Given the description of an element on the screen output the (x, y) to click on. 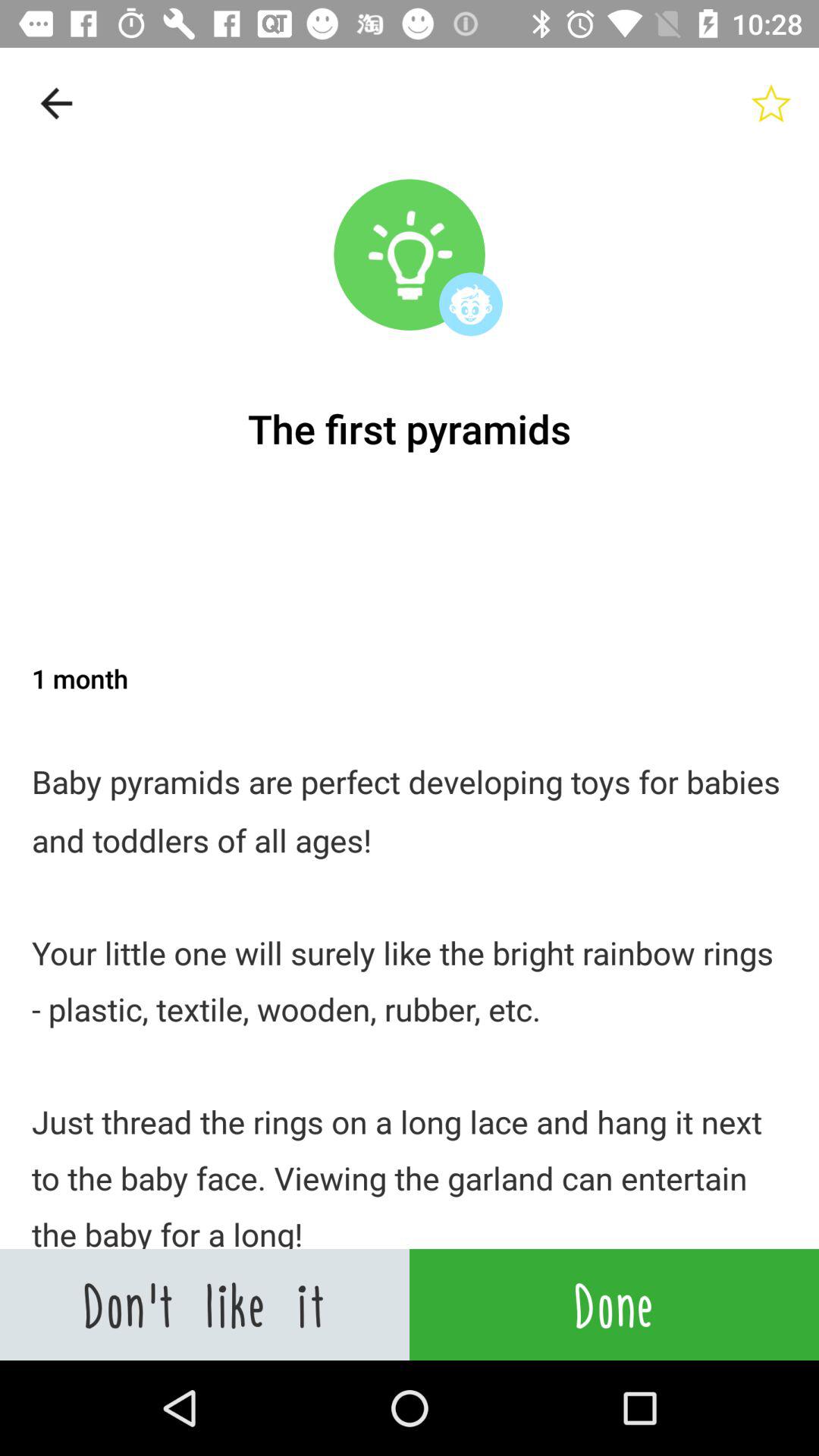
choose item at the top left corner (55, 103)
